Given the description of an element on the screen output the (x, y) to click on. 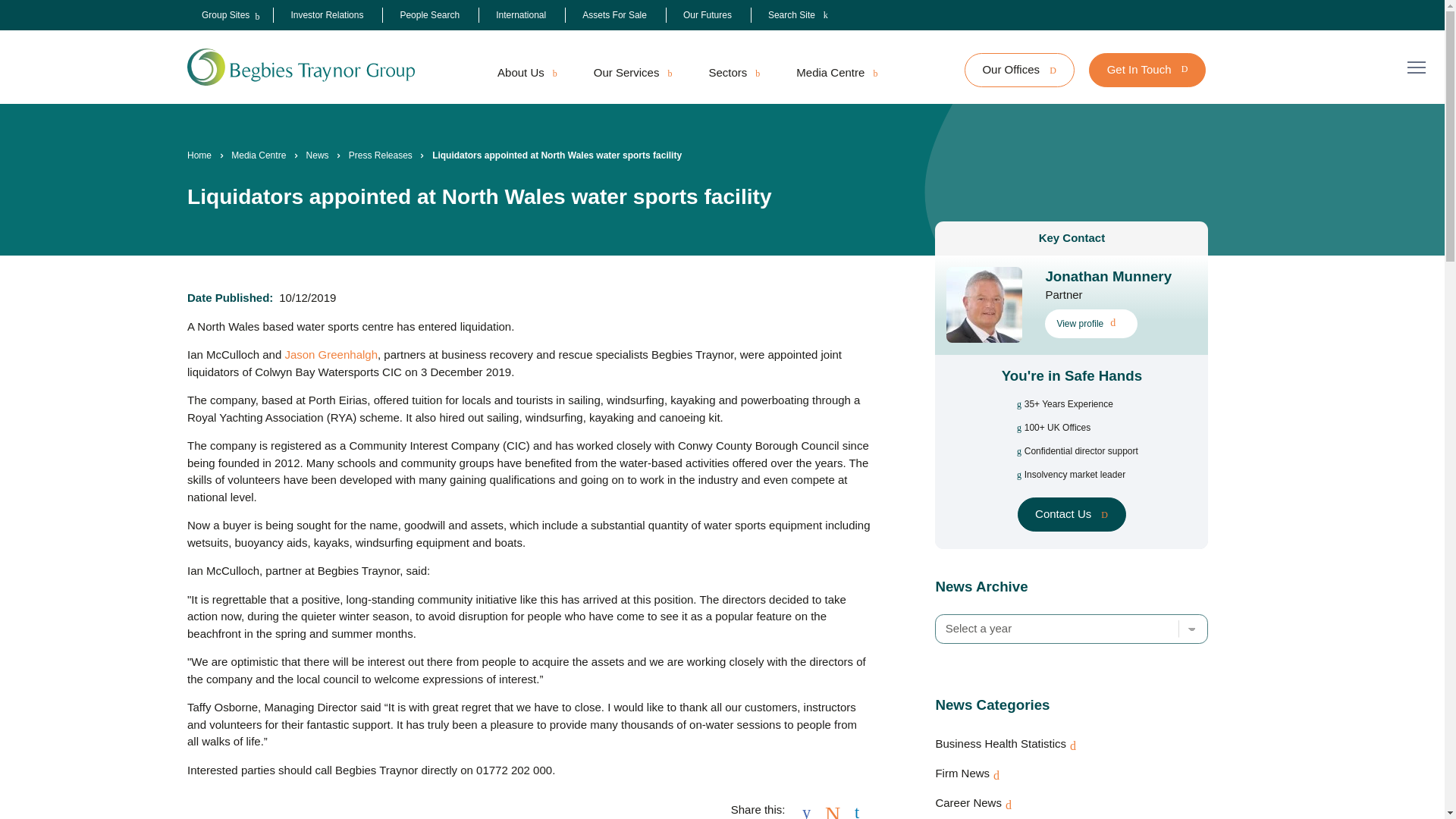
Our Services (632, 73)
Go to Home (199, 155)
Go to Media Centre (258, 155)
Group Sites (225, 15)
Share via LinkedIn (856, 810)
Investor Relations (325, 15)
Share via Facebook (806, 810)
Search Site (798, 15)
Assets For Sale (614, 15)
Go to News (317, 155)
International (521, 15)
People Search (429, 15)
Share via X (832, 810)
About Us (527, 73)
Go to Press Releases (380, 155)
